Given the description of an element on the screen output the (x, y) to click on. 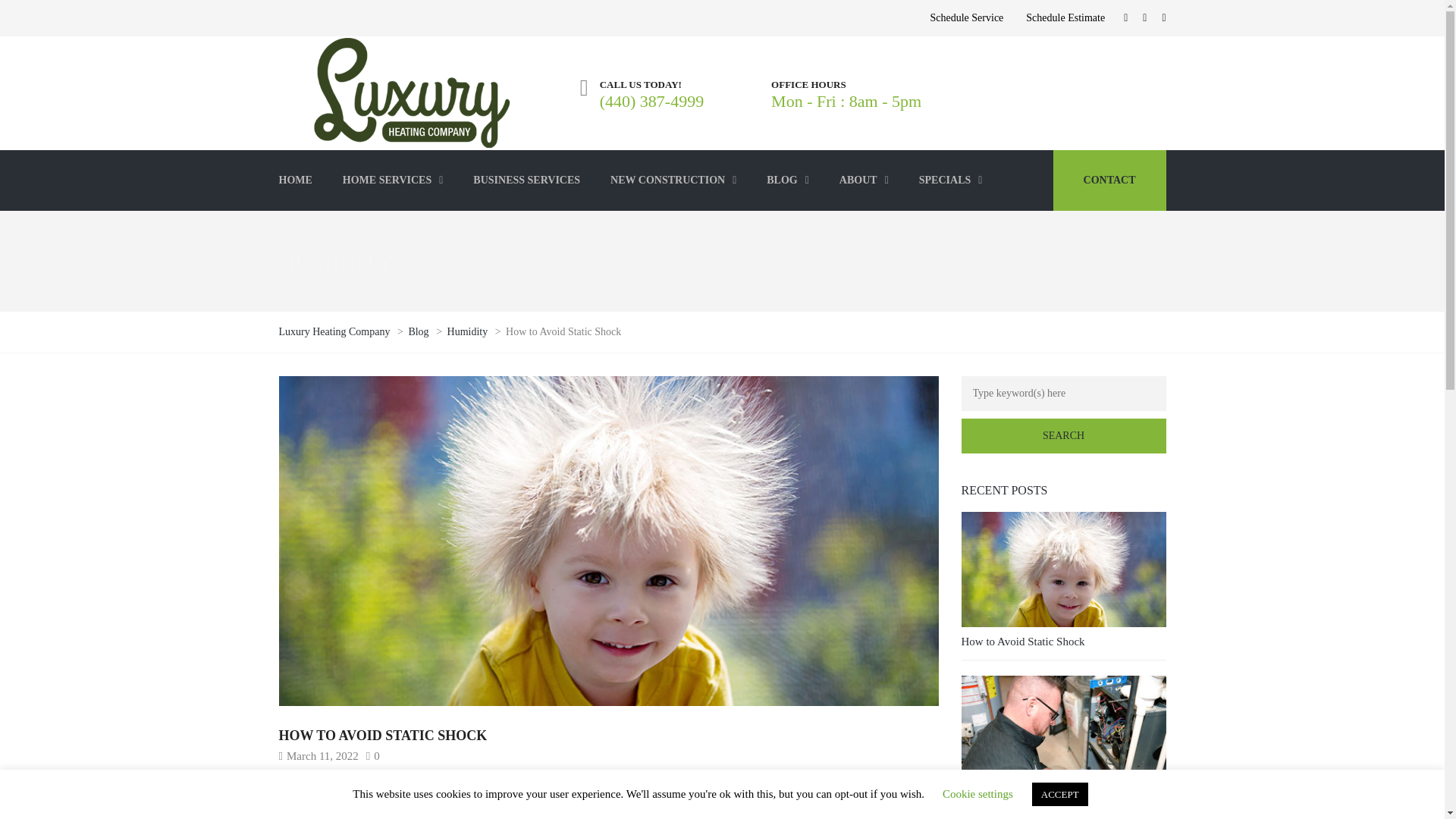
Go to Luxury Heating Company. (336, 331)
Go to the Humidity Category archives. (468, 331)
Search (1063, 435)
HOME SERVICES (392, 179)
BUSINESS SERVICES (526, 179)
Schedule Estimate (1065, 18)
Schedule Service (966, 18)
Go to Blog. (418, 331)
NEW CONSTRUCTION (673, 179)
